Given the description of an element on the screen output the (x, y) to click on. 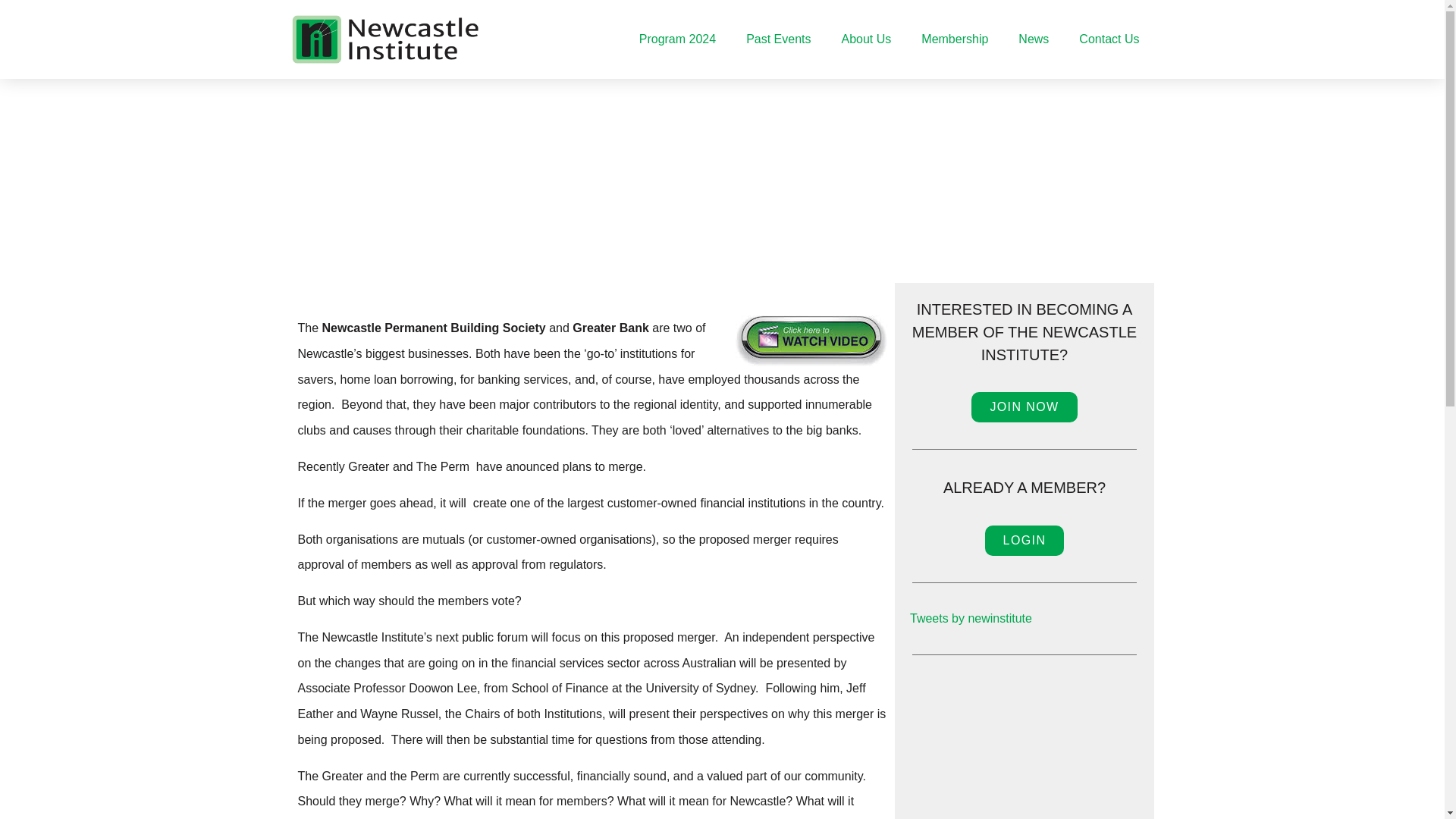
Membership (954, 38)
About Us (867, 38)
Past Events (777, 38)
Program 2024 (677, 38)
LOGIN (1024, 540)
JOIN NOW (1024, 407)
News (1033, 38)
Tweets by newinstitute (971, 617)
Contact Us (1109, 38)
